Given the description of an element on the screen output the (x, y) to click on. 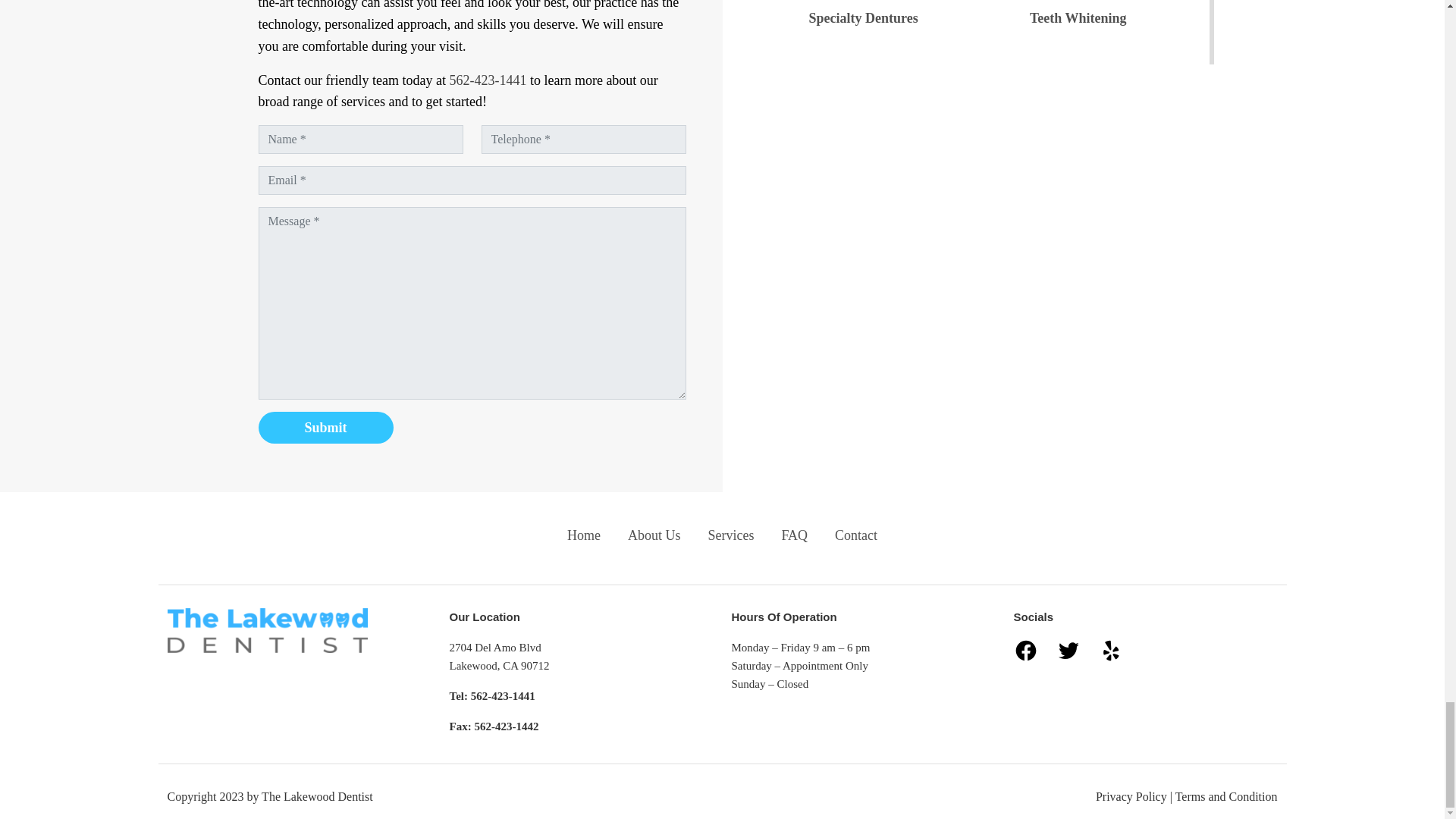
Submit (325, 427)
